Given the description of an element on the screen output the (x, y) to click on. 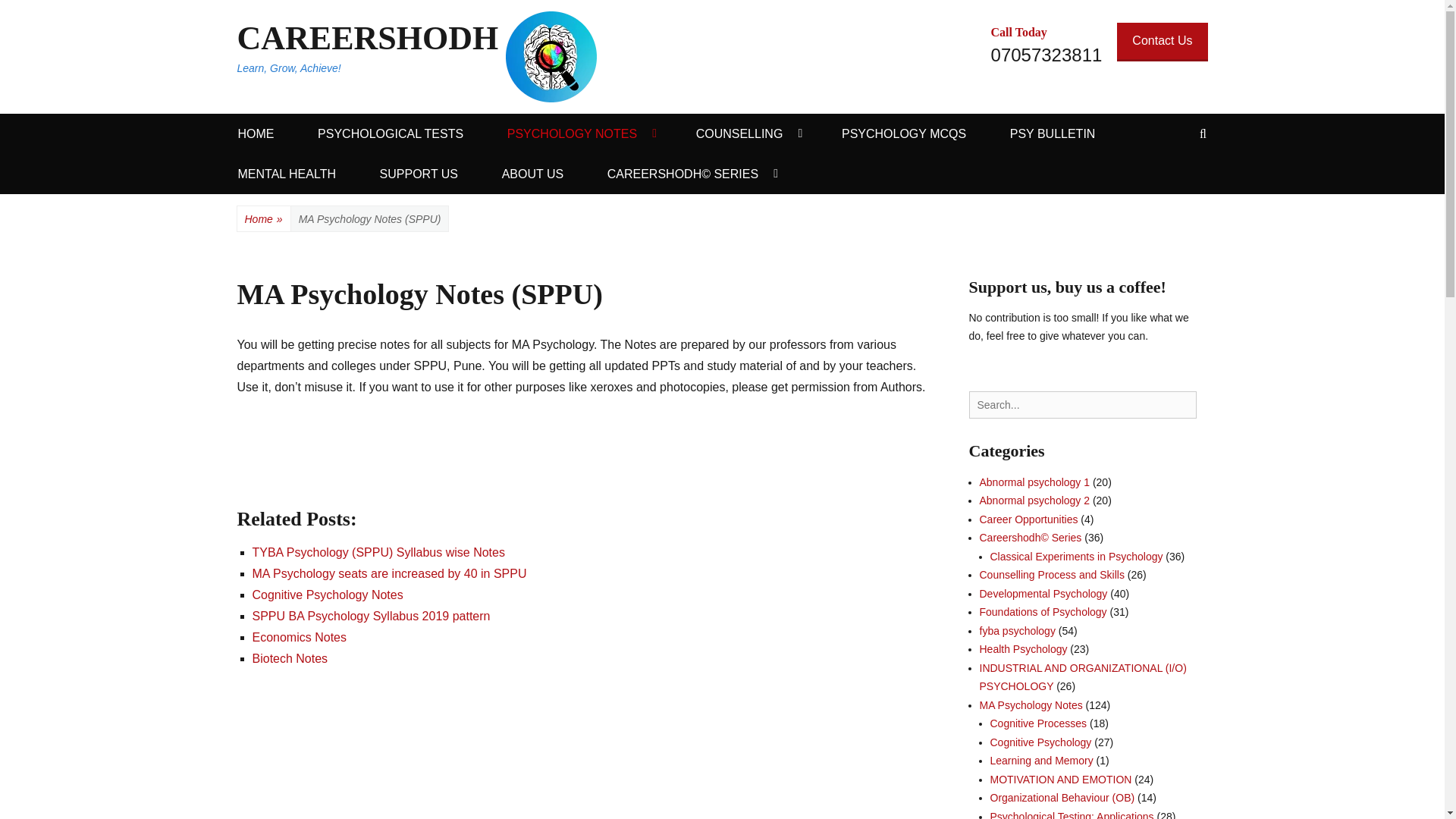
CAREERSHODH (366, 37)
PSYCHOLOGICAL TESTS (390, 133)
HOME (255, 133)
PSYCHOLOGY NOTES (579, 133)
COUNSELLING (747, 133)
Search for: (1082, 405)
Contact Us (1161, 41)
